Given the description of an element on the screen output the (x, y) to click on. 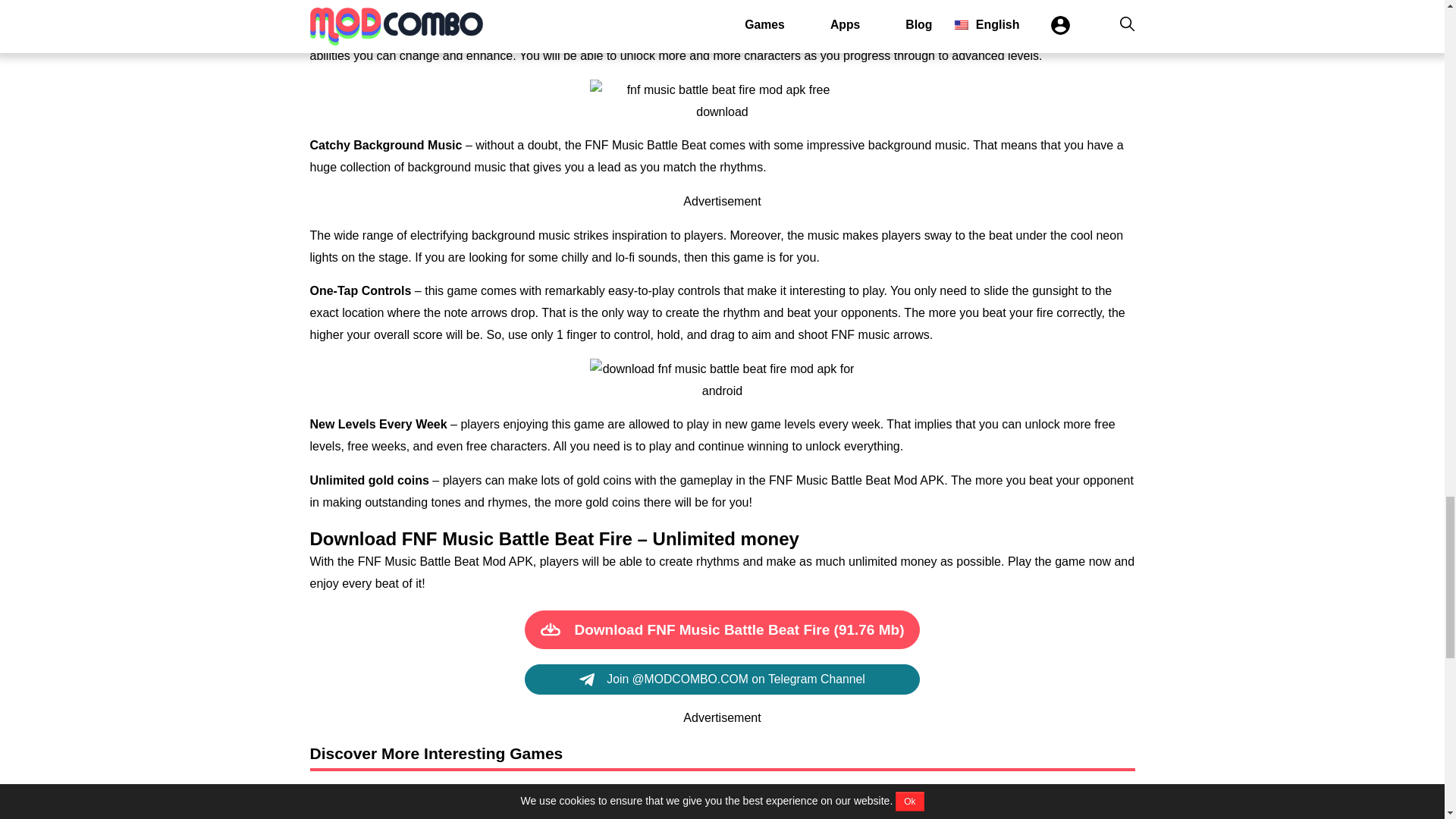
Smash Colors 3D (1000, 808)
fnf music battle beat fire mod apk free download (722, 101)
My Singing Monsters (442, 808)
Dancing Road Color Ball Run (442, 808)
download fnf music battle beat fire mod apk for android (1000, 808)
